Given the description of an element on the screen output the (x, y) to click on. 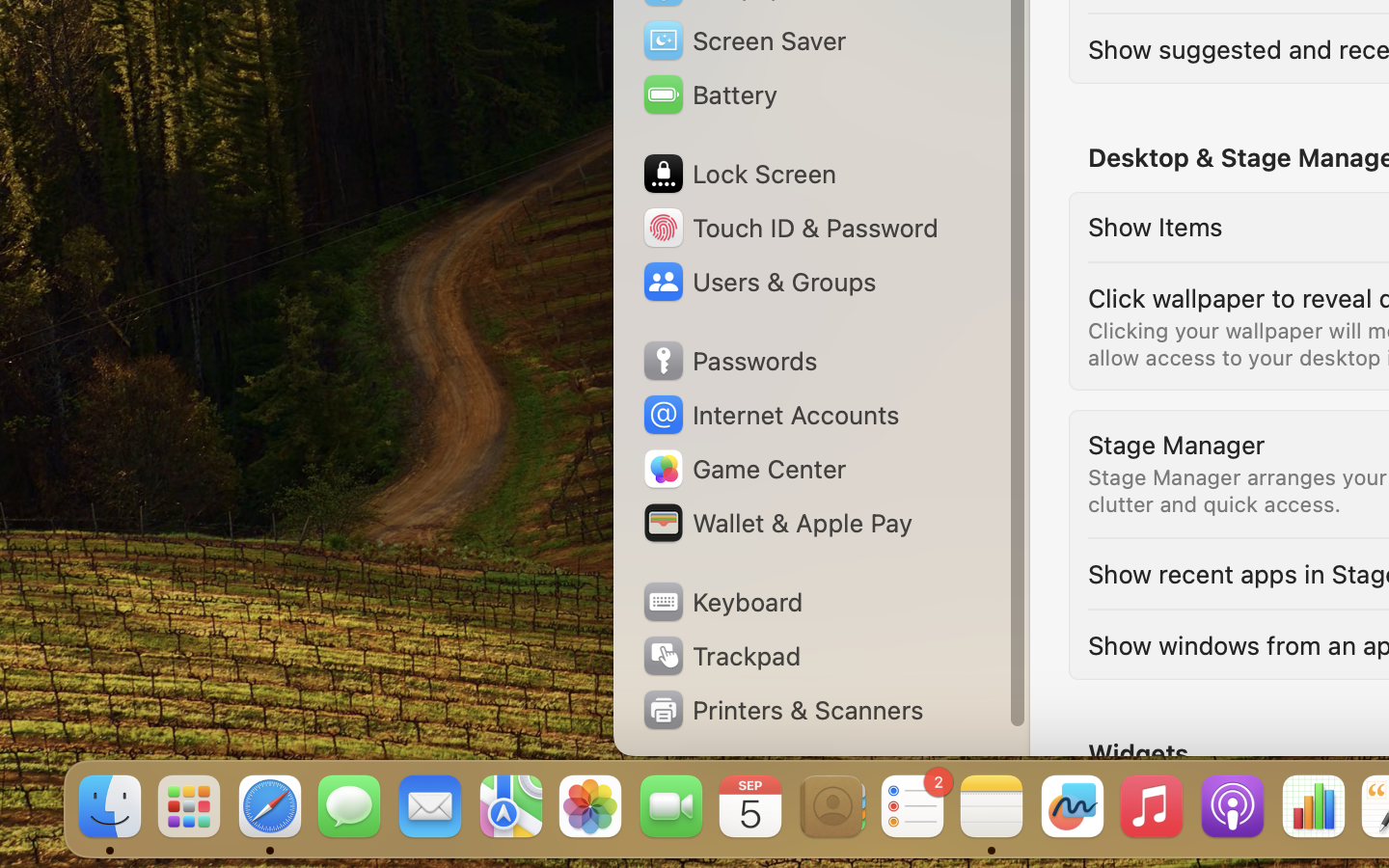
Keyboard Element type: AXStaticText (721, 601)
Screen Saver Element type: AXStaticText (743, 40)
Battery Element type: AXStaticText (708, 94)
Game Center Element type: AXStaticText (743, 468)
Touch ID & Password Element type: AXStaticText (789, 227)
